Given the description of an element on the screen output the (x, y) to click on. 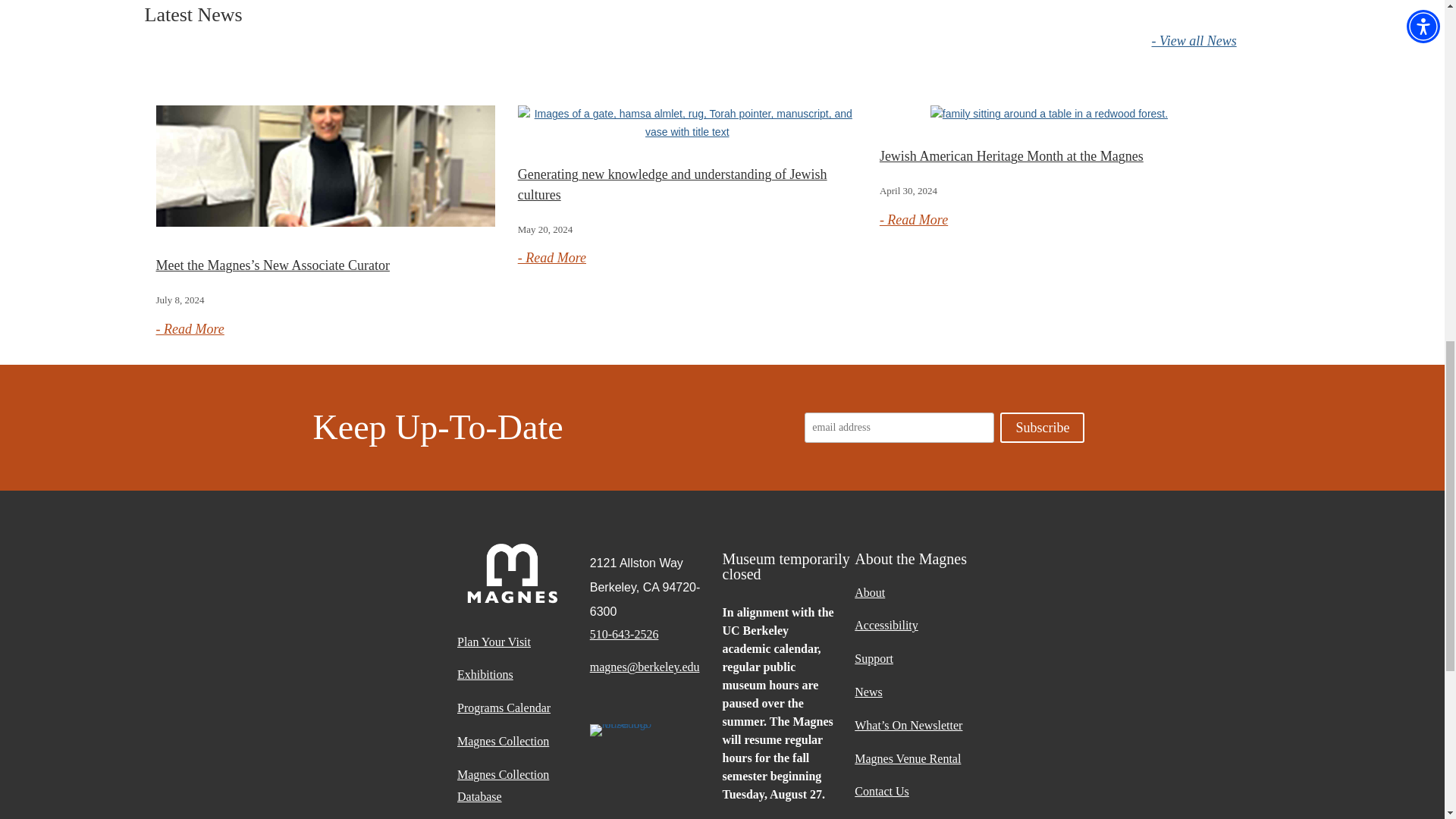
Magnes Email (655, 673)
- Read More (913, 219)
- Read More (552, 257)
- Read More (189, 328)
Plan Your Visit (523, 648)
Subscribe (1042, 427)
Jewish American Heritage Month at the Magnes (1010, 155)
Subscribe (1042, 427)
- View all News (1193, 40)
Magnes Logo (512, 573)
